Given the description of an element on the screen output the (x, y) to click on. 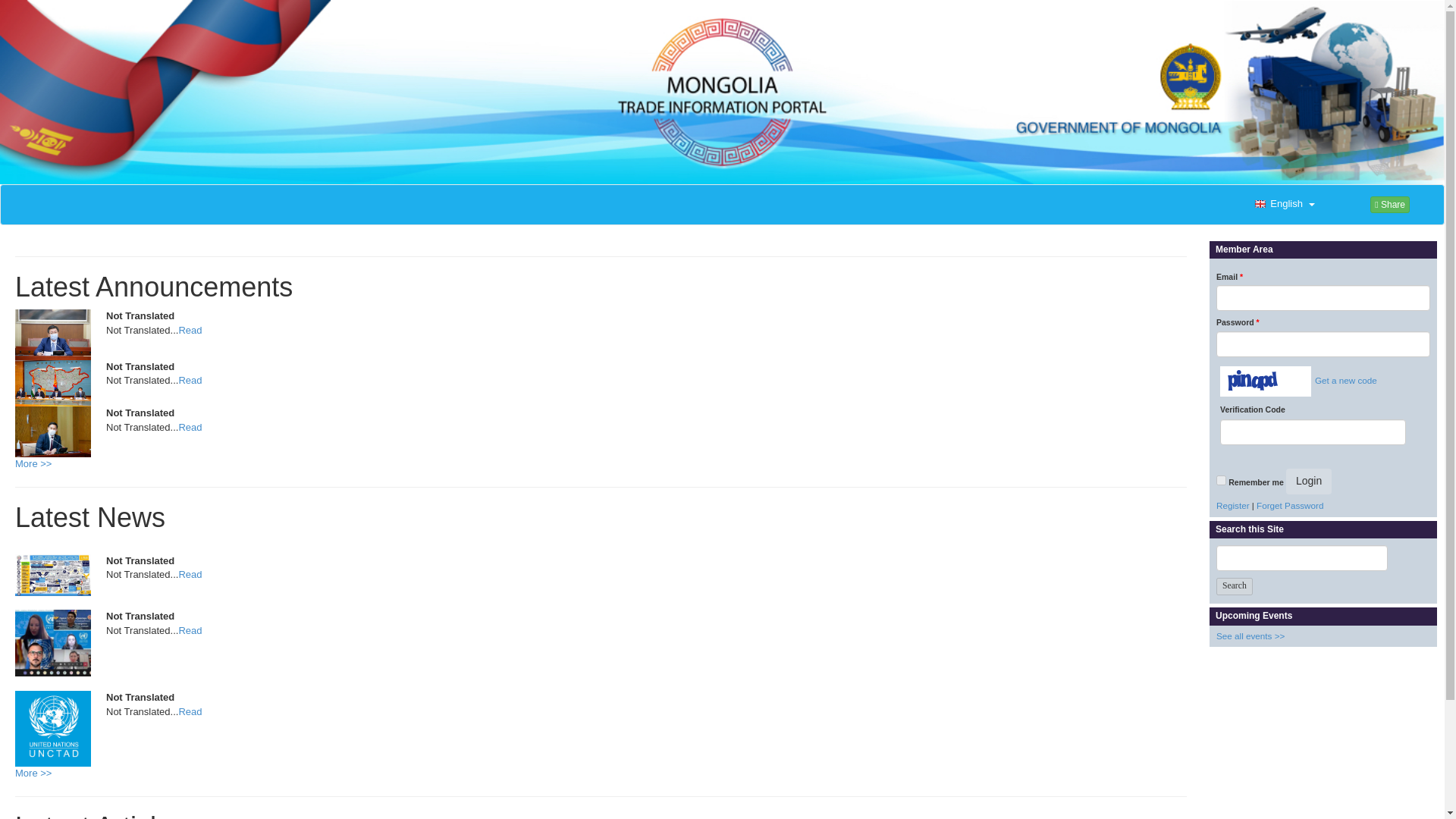
Read (189, 379)
Search (1233, 586)
Read (189, 711)
Share (1389, 204)
Forget Password (1289, 505)
1 (1220, 480)
Login (1308, 481)
Search (1233, 586)
Read (189, 329)
English (1282, 204)
